Given the description of an element on the screen output the (x, y) to click on. 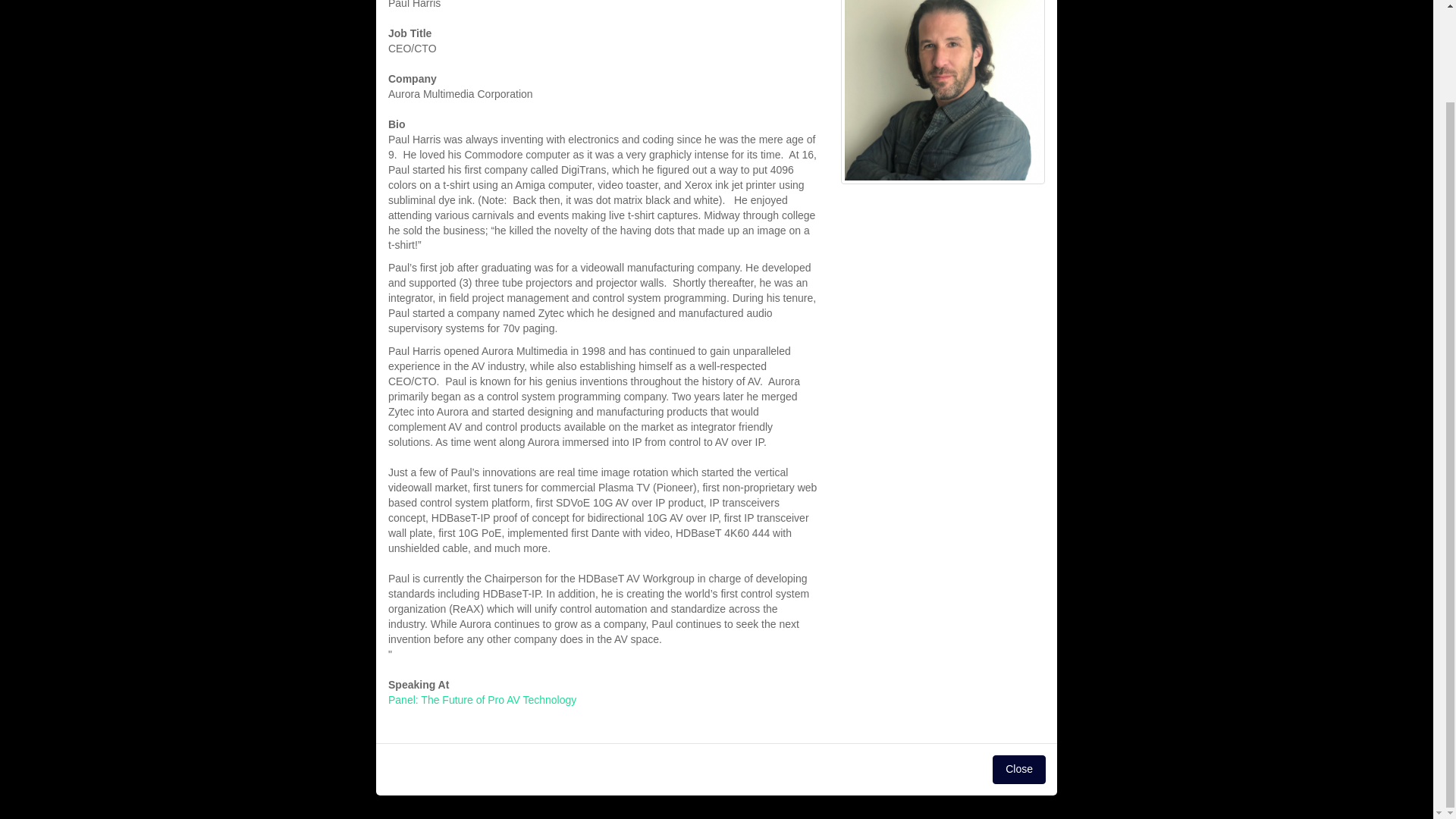
Panel: The Future of Pro AV Technology (482, 699)
Session Details (482, 699)
Close (1018, 769)
